Given the description of an element on the screen output the (x, y) to click on. 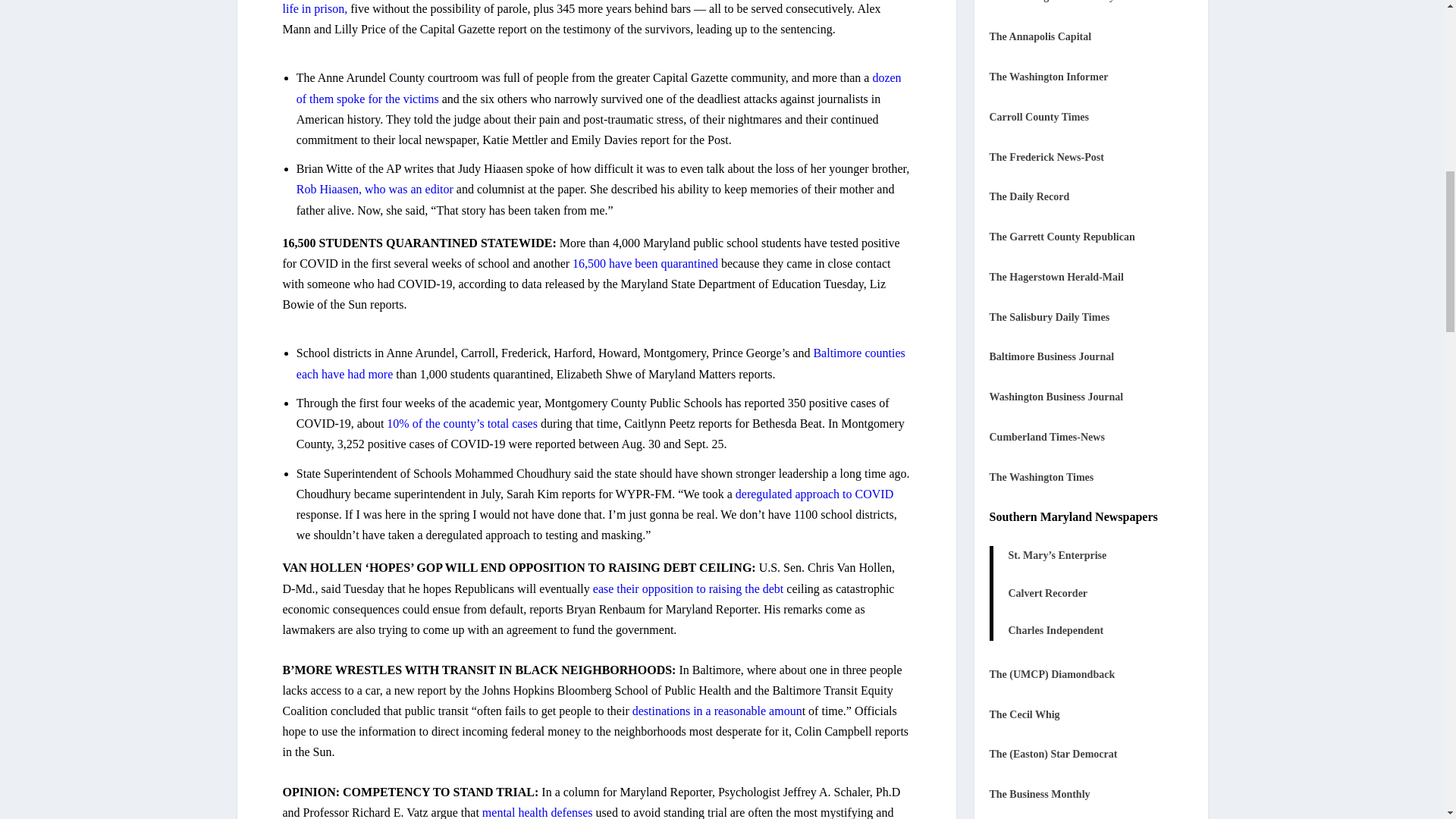
mental health defenses (538, 812)
ease their opposition to raising the debt (686, 588)
Rob Hiaasen, who was an editor (377, 188)
Baltimore counties each have had more (601, 363)
dozen of them spoke for the victims (599, 87)
deregulated approach to COVID (814, 493)
16,500 have been quarantined (644, 263)
six terms of life in prison, (591, 7)
destinations in a reasonable amoun (716, 710)
